Given the description of an element on the screen output the (x, y) to click on. 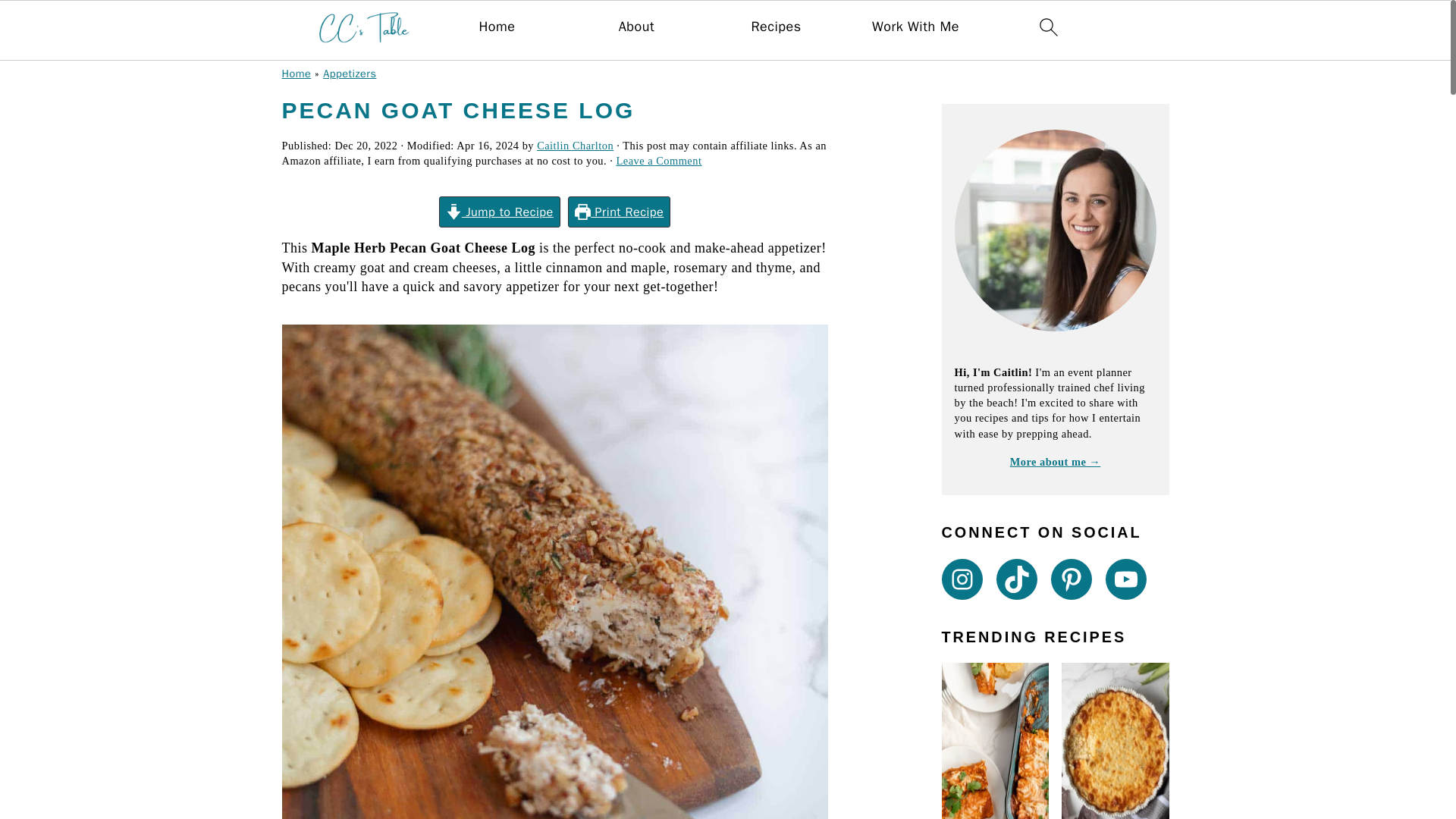
search icon (1048, 26)
Home (497, 27)
Home (296, 73)
About (635, 27)
Work With Me (915, 27)
Recipes (775, 27)
